Given the description of an element on the screen output the (x, y) to click on. 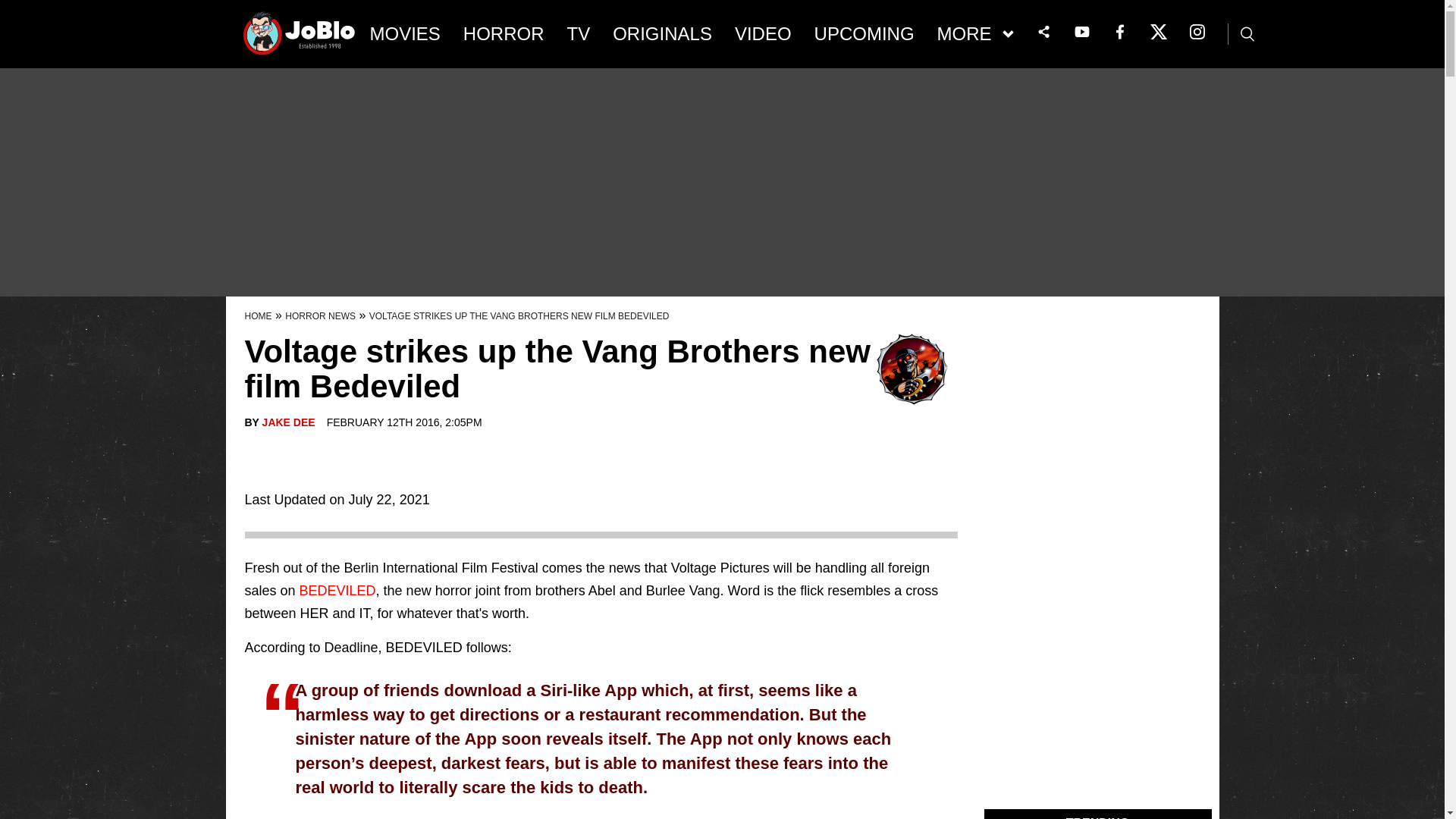
UPCOMING (863, 34)
HORROR (503, 34)
MORE (976, 34)
MOVIES (405, 34)
VIDEO (762, 34)
TV (578, 34)
Go (13, 7)
ORIGINALS (662, 34)
JoBlo Logo (299, 38)
